Given the description of an element on the screen output the (x, y) to click on. 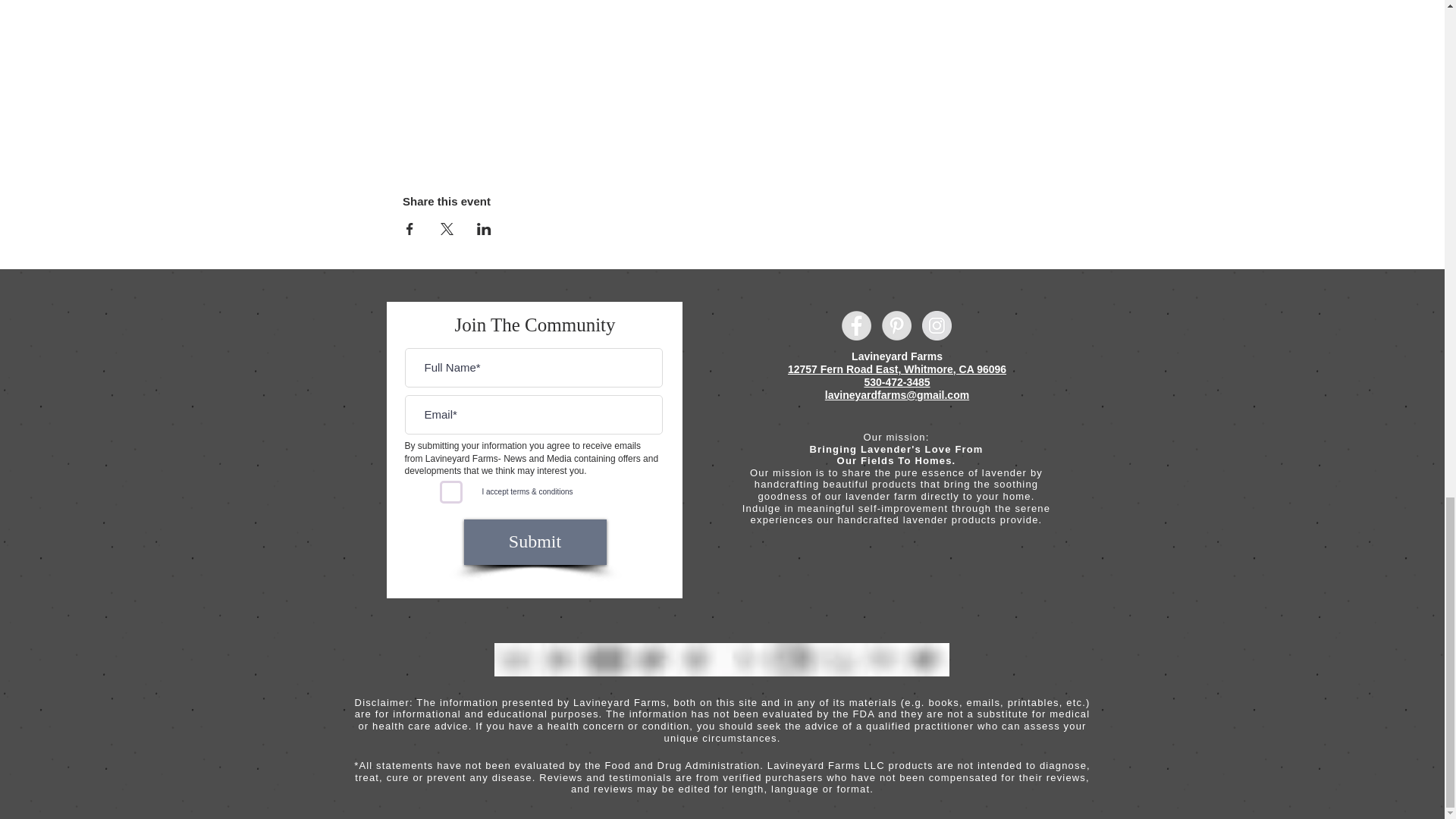
Submit (535, 542)
12757 Fern Road East, Whitmore, CA 96096 (896, 369)
530-472-3485 (896, 382)
